Given the description of an element on the screen output the (x, y) to click on. 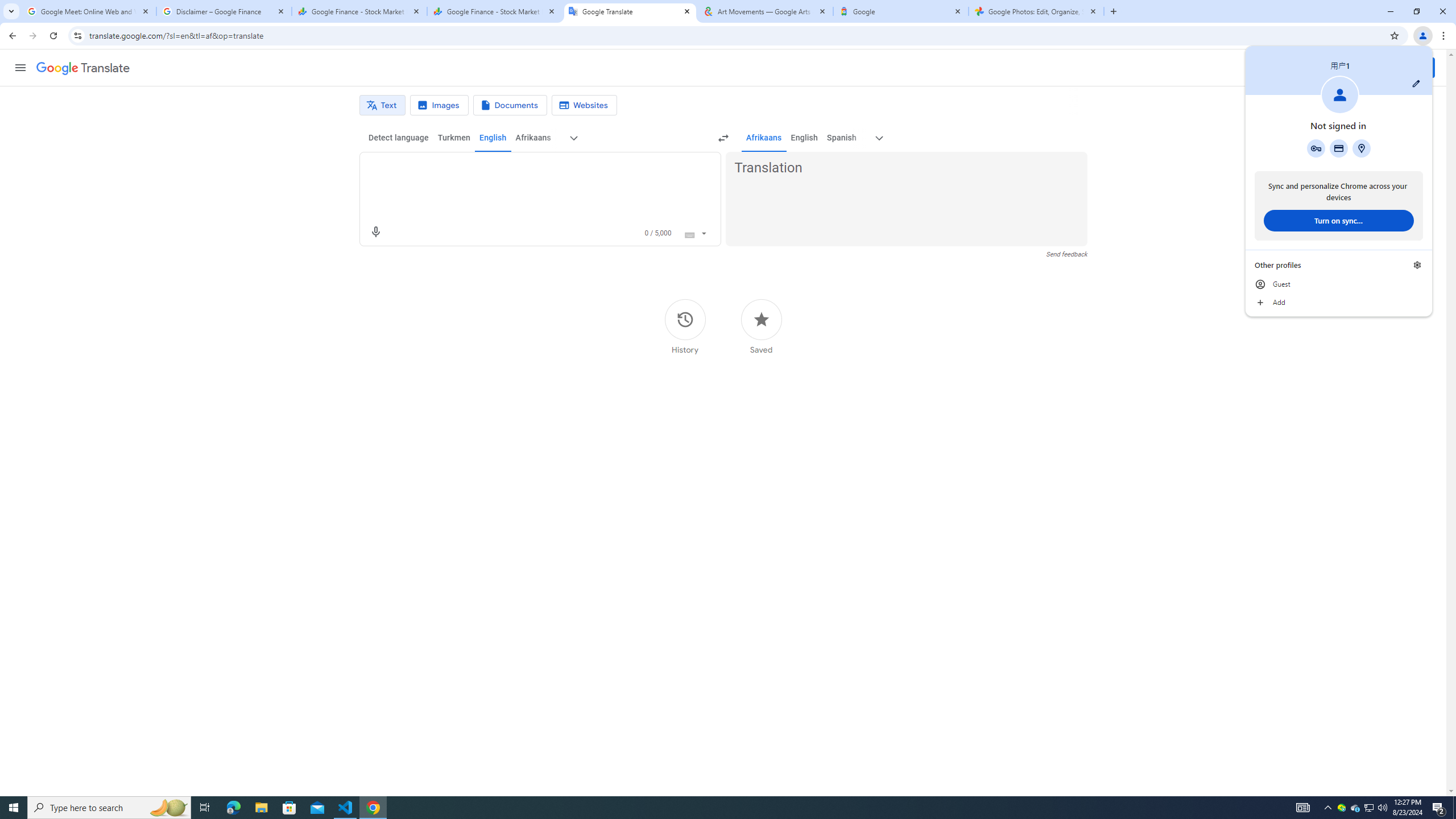
0 of 5,000 characters used (658, 232)
Website translation (584, 105)
Google Chrome - 1 running window (373, 807)
Microsoft Edge (233, 807)
Add (1338, 302)
Turkmen (453, 137)
Action Center, 2 new notifications (1439, 807)
Notification Chevron (1327, 807)
Afrikaans (763, 137)
Google (901, 11)
